Given the description of an element on the screen output the (x, y) to click on. 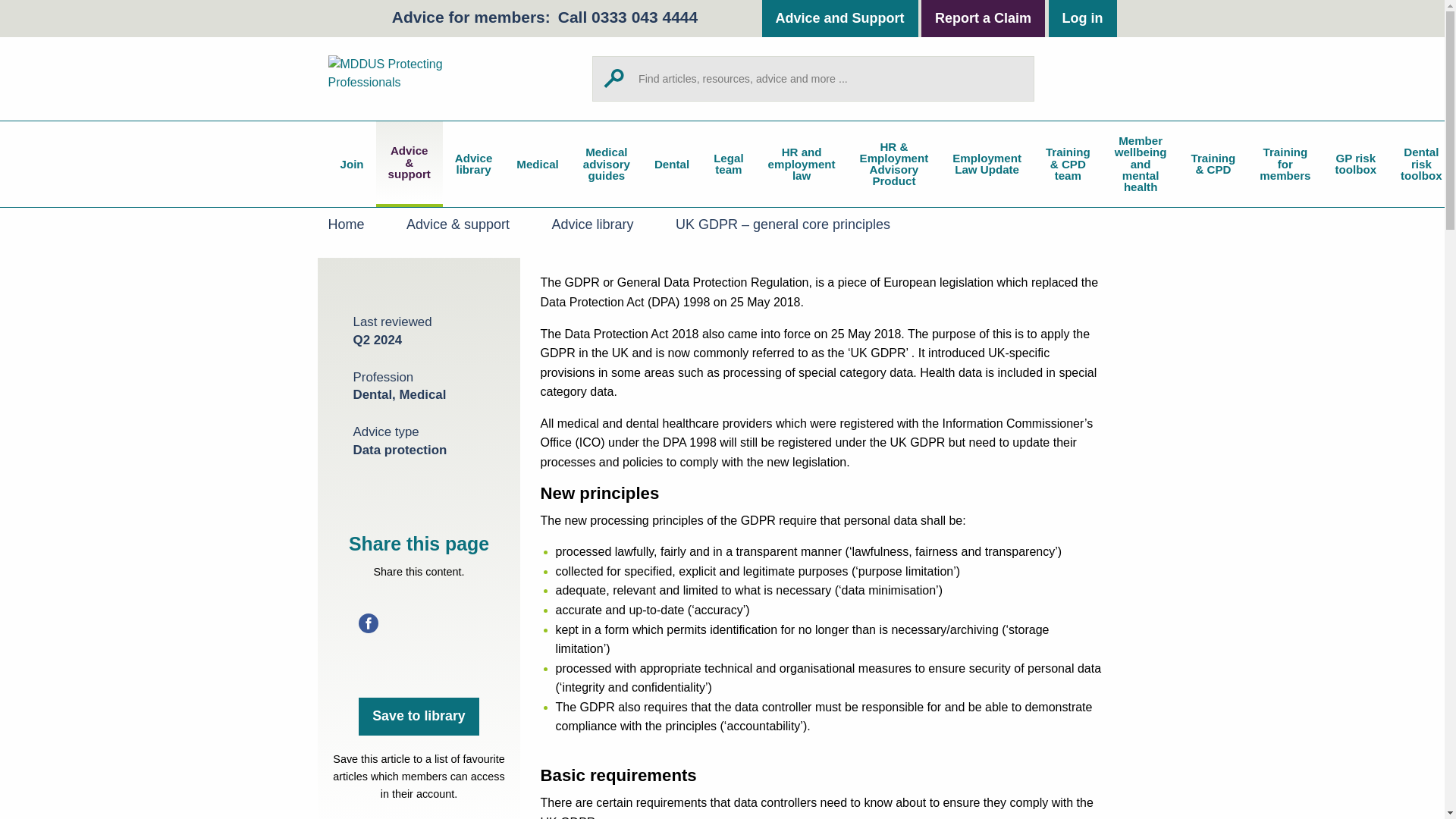
Home  (418, 78)
Employment Law Update (986, 164)
Advice for members:Call 0333 043 4444 (544, 17)
Advice and Support (839, 18)
HR and employment law (801, 164)
Search (1016, 78)
Log in (1082, 18)
Search (1016, 78)
Member wellbeing and mental health (1140, 164)
Report a Claim (983, 18)
